Given the description of an element on the screen output the (x, y) to click on. 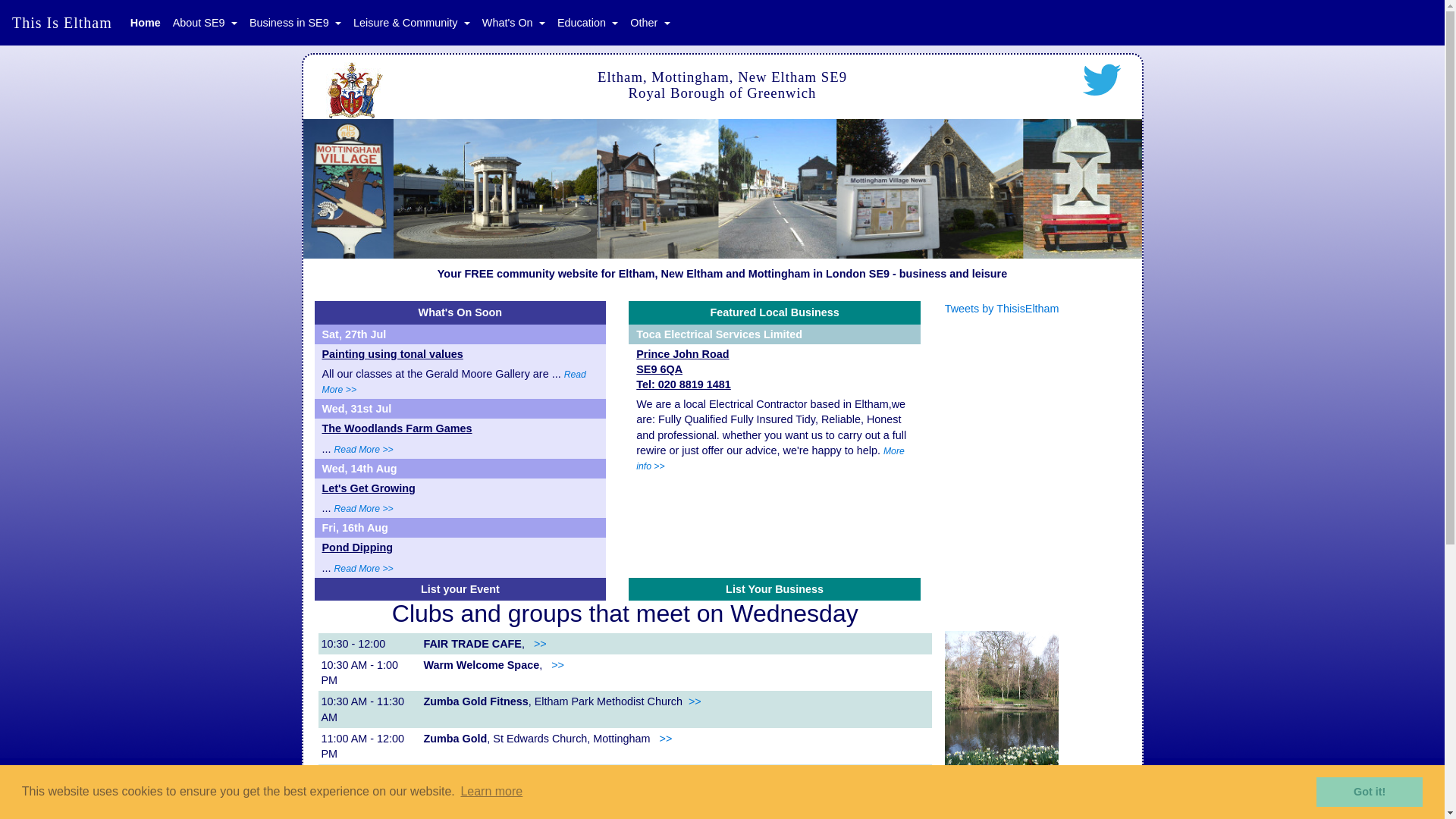
This Is Eltham (61, 22)
Home (145, 22)
Business in SE9 (295, 22)
Learn more (491, 791)
Got it! (1369, 791)
About SE9 (205, 22)
What's On (513, 22)
